Given the description of an element on the screen output the (x, y) to click on. 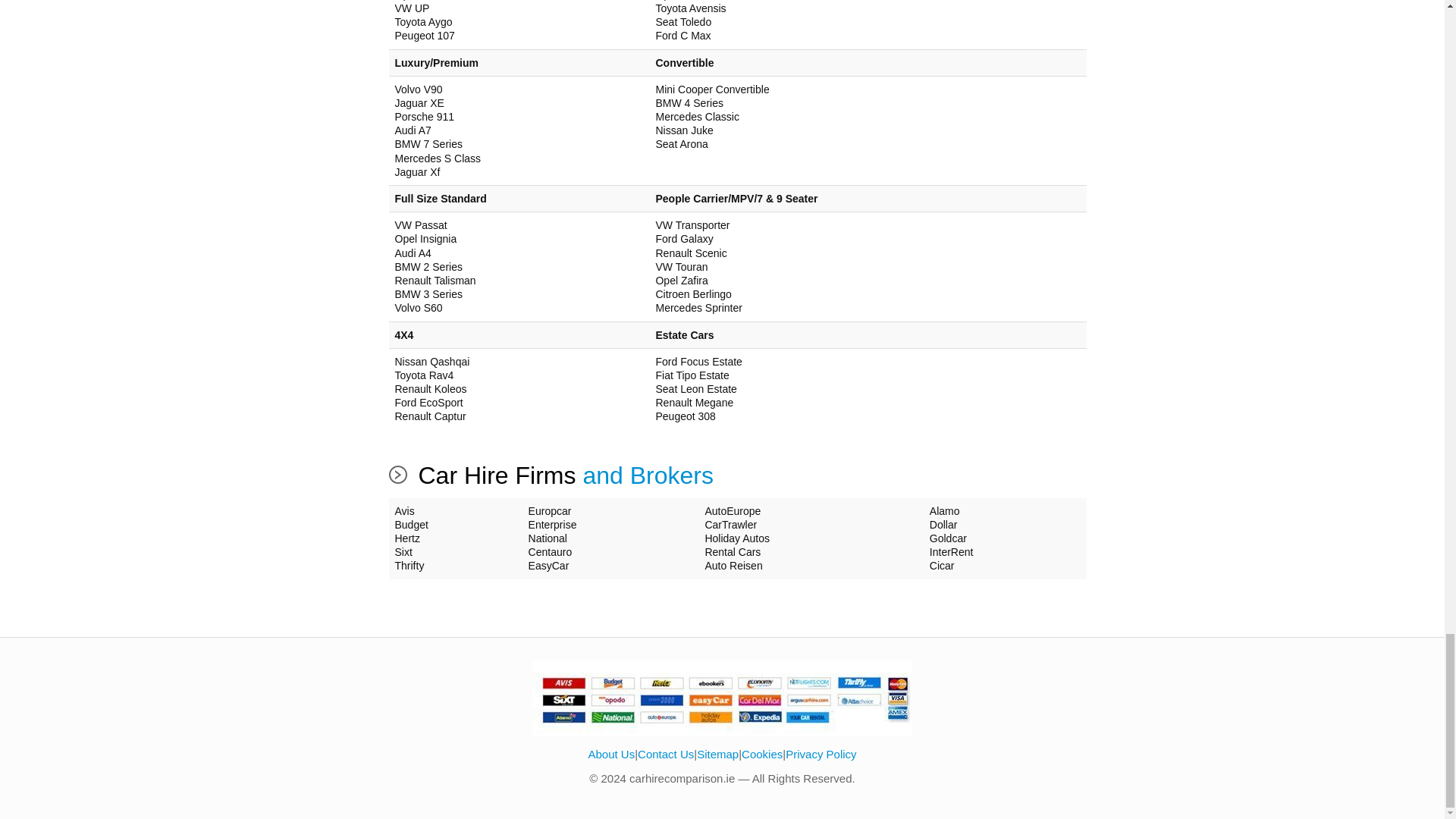
Sitemap (717, 753)
Contact Us (665, 753)
Privacy Policy (821, 753)
Cookies (762, 753)
About Us (611, 753)
